Given the description of an element on the screen output the (x, y) to click on. 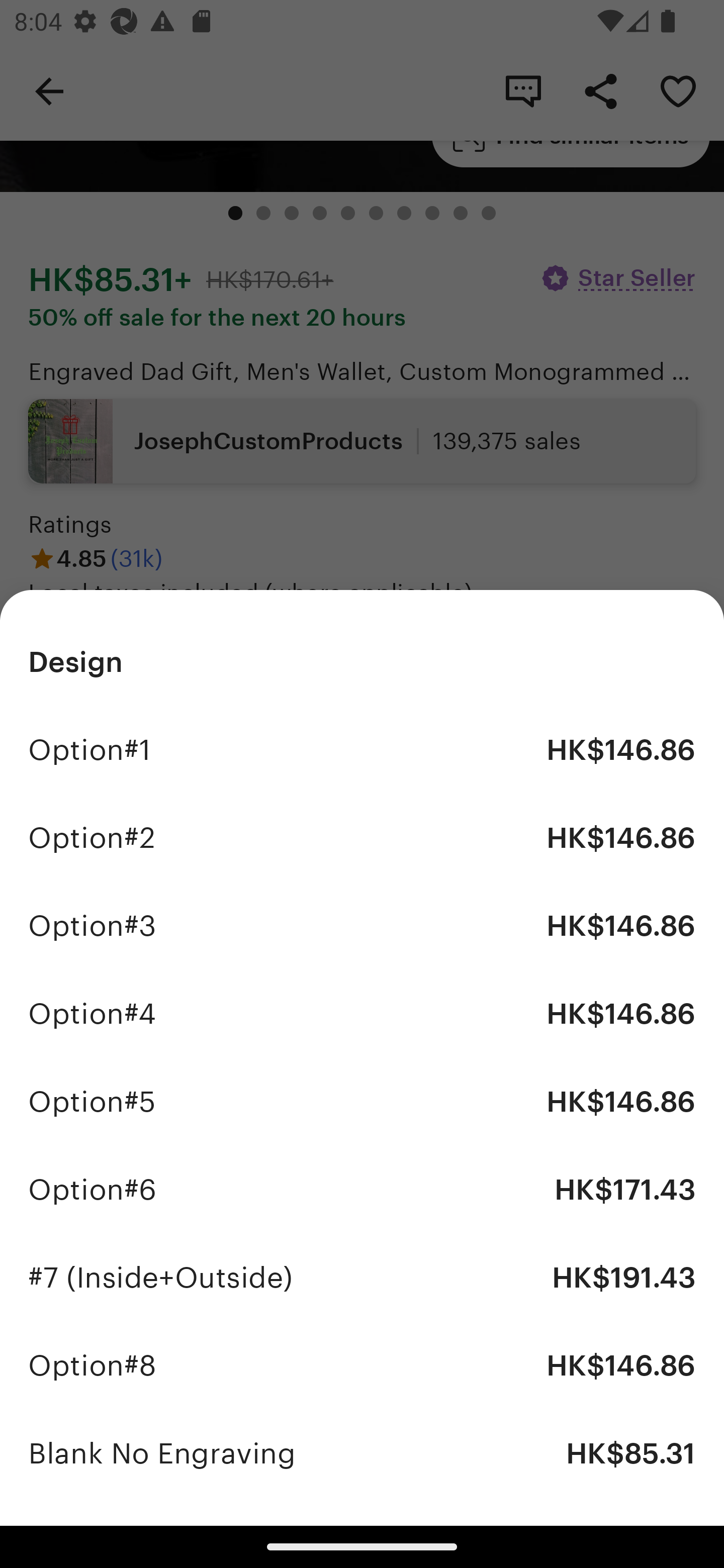
Option#1 HK$146.86 (362, 749)
Option#2 HK$146.86 (362, 837)
Option#3 HK$146.86 (362, 925)
Option#4 HK$146.86 (362, 1014)
Option#5 HK$146.86 (362, 1102)
Option#6 HK$171.43 (362, 1190)
#7 (Inside+Outside) HK$191.43 (362, 1277)
Option#8 HK$146.86 (362, 1365)
Blank No Engraving HK$85.31 (362, 1453)
